Given the description of an element on the screen output the (x, y) to click on. 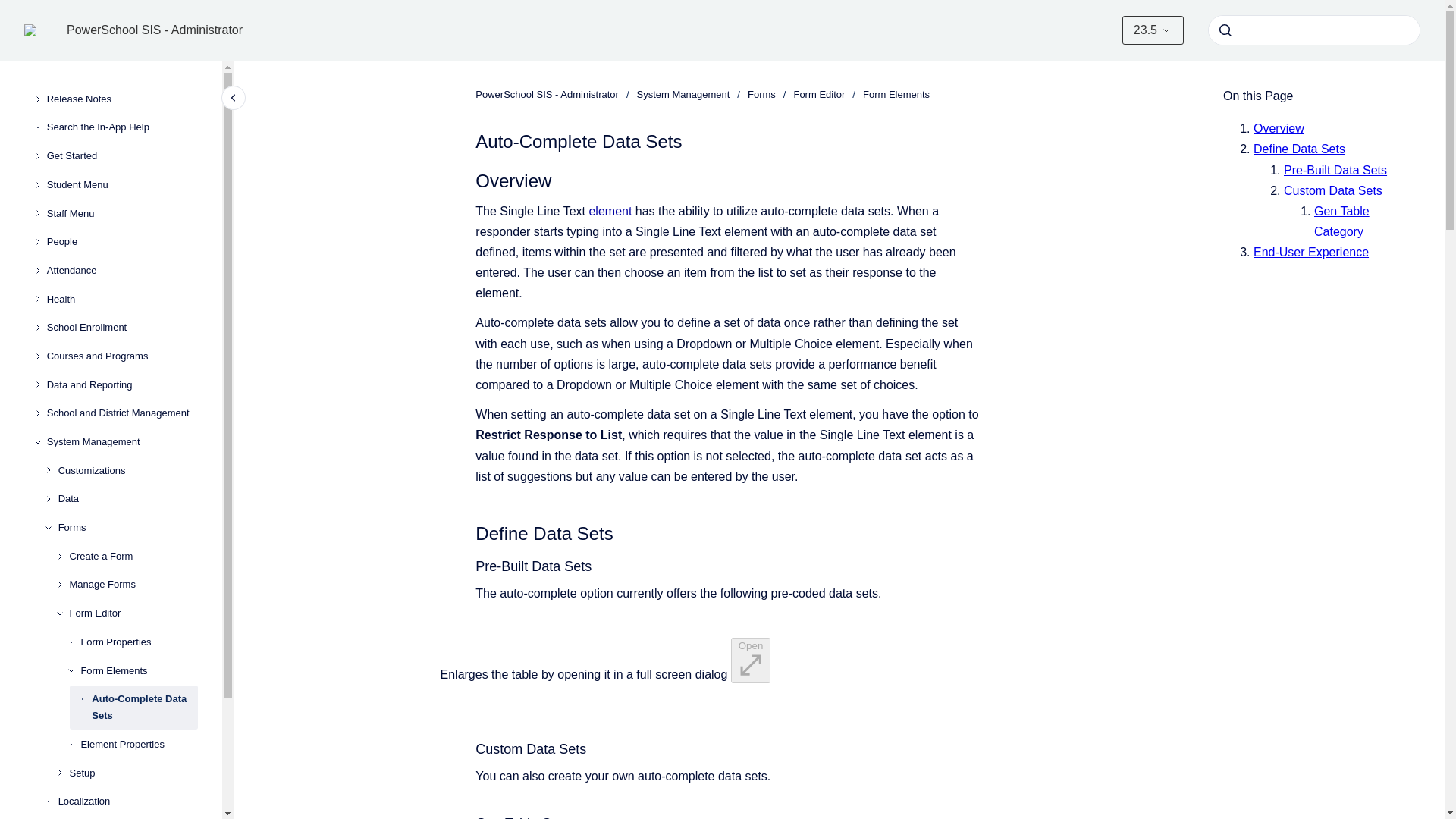
People (122, 241)
23.5 (1152, 30)
Forms (128, 527)
Data and Reporting (122, 384)
Data (128, 499)
Student Menu (122, 185)
Health (122, 298)
System Management (122, 441)
PowerSchool SIS - Administrator (154, 29)
Customizations (128, 470)
